Given the description of an element on the screen output the (x, y) to click on. 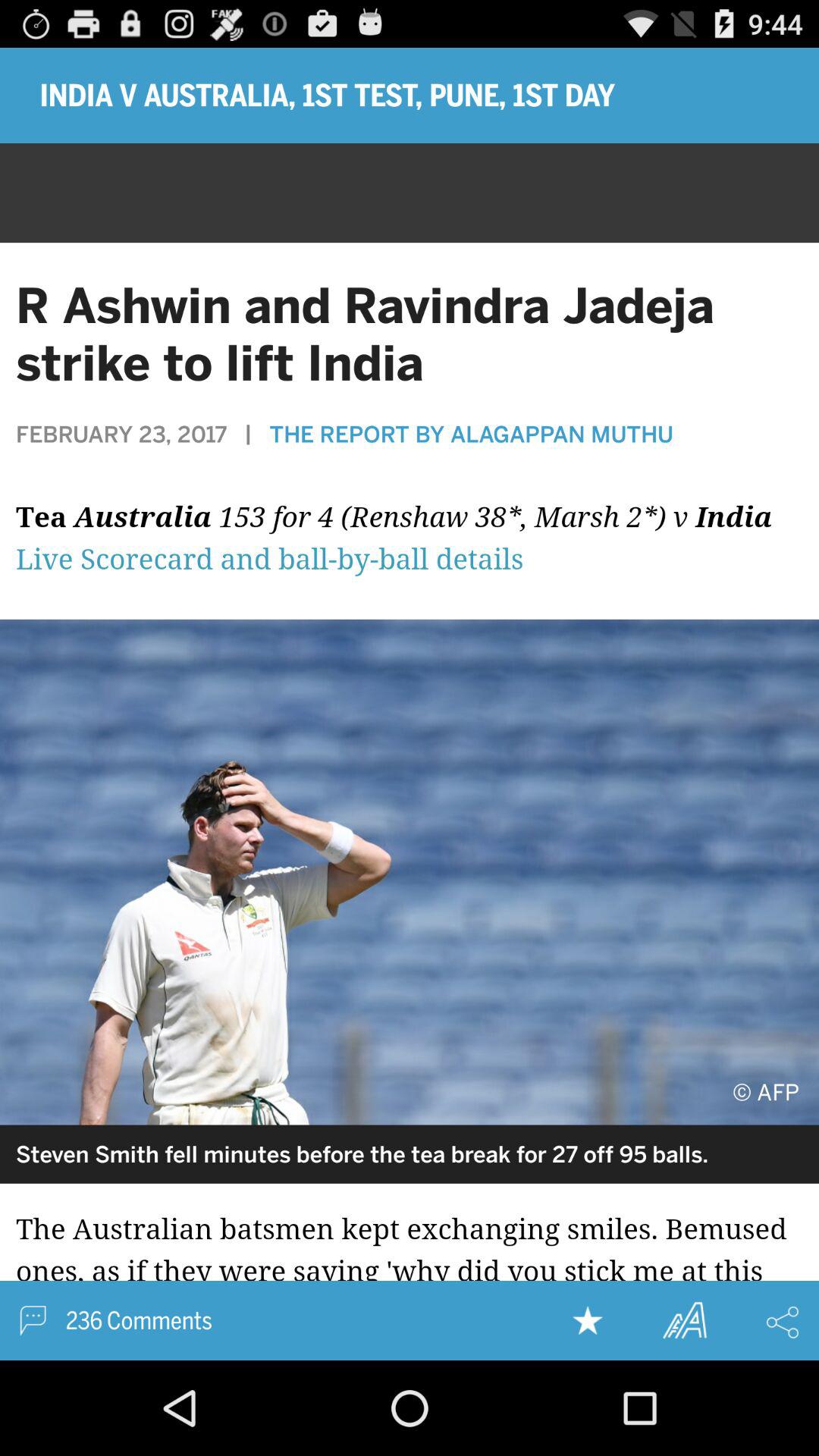
favorite (587, 1319)
